Given the description of an element on the screen output the (x, y) to click on. 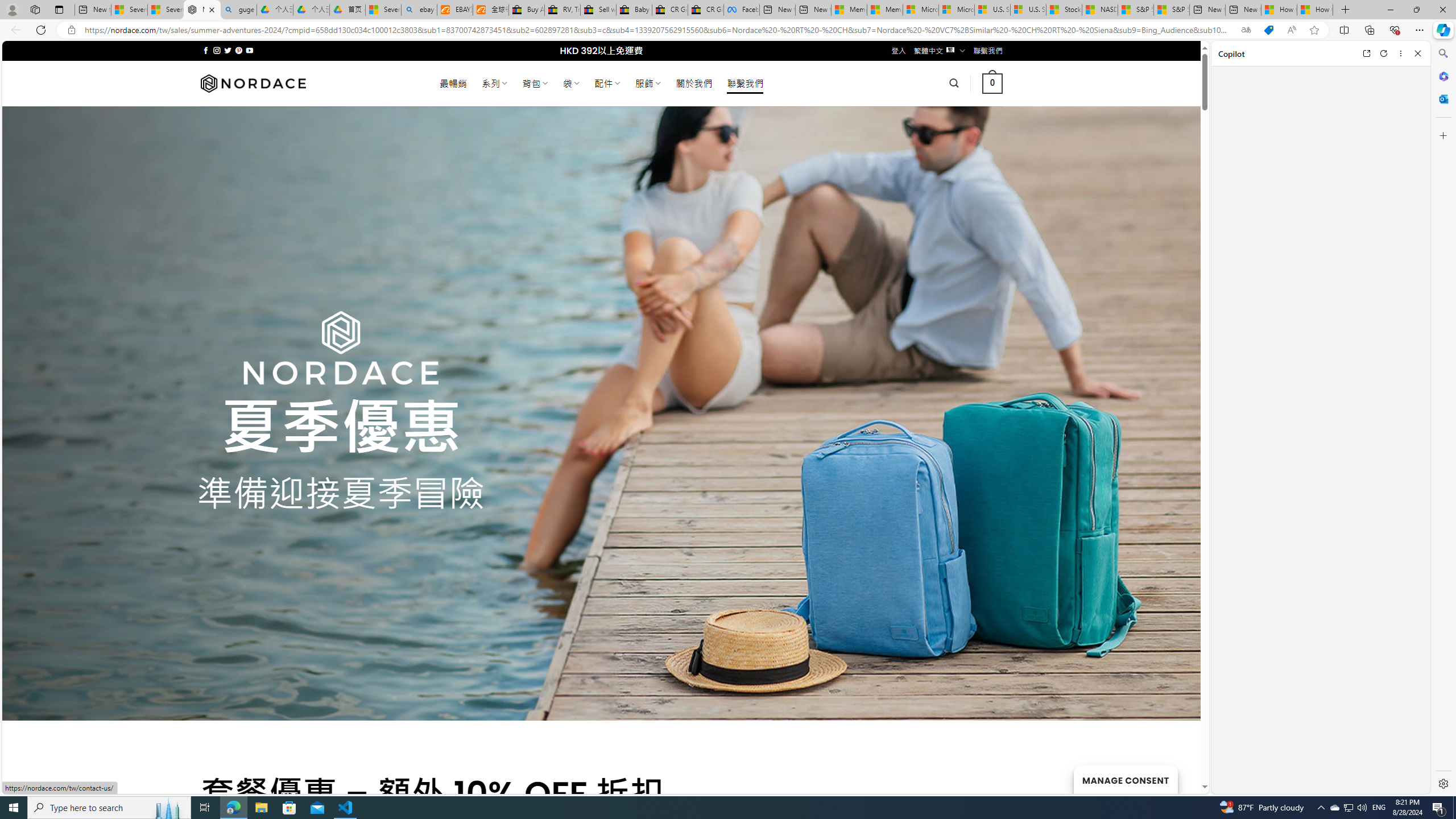
Open link in new tab (1366, 53)
Show translate options (1245, 29)
Follow on Instagram (216, 50)
Follow on Twitter (227, 50)
